Given the description of an element on the screen output the (x, y) to click on. 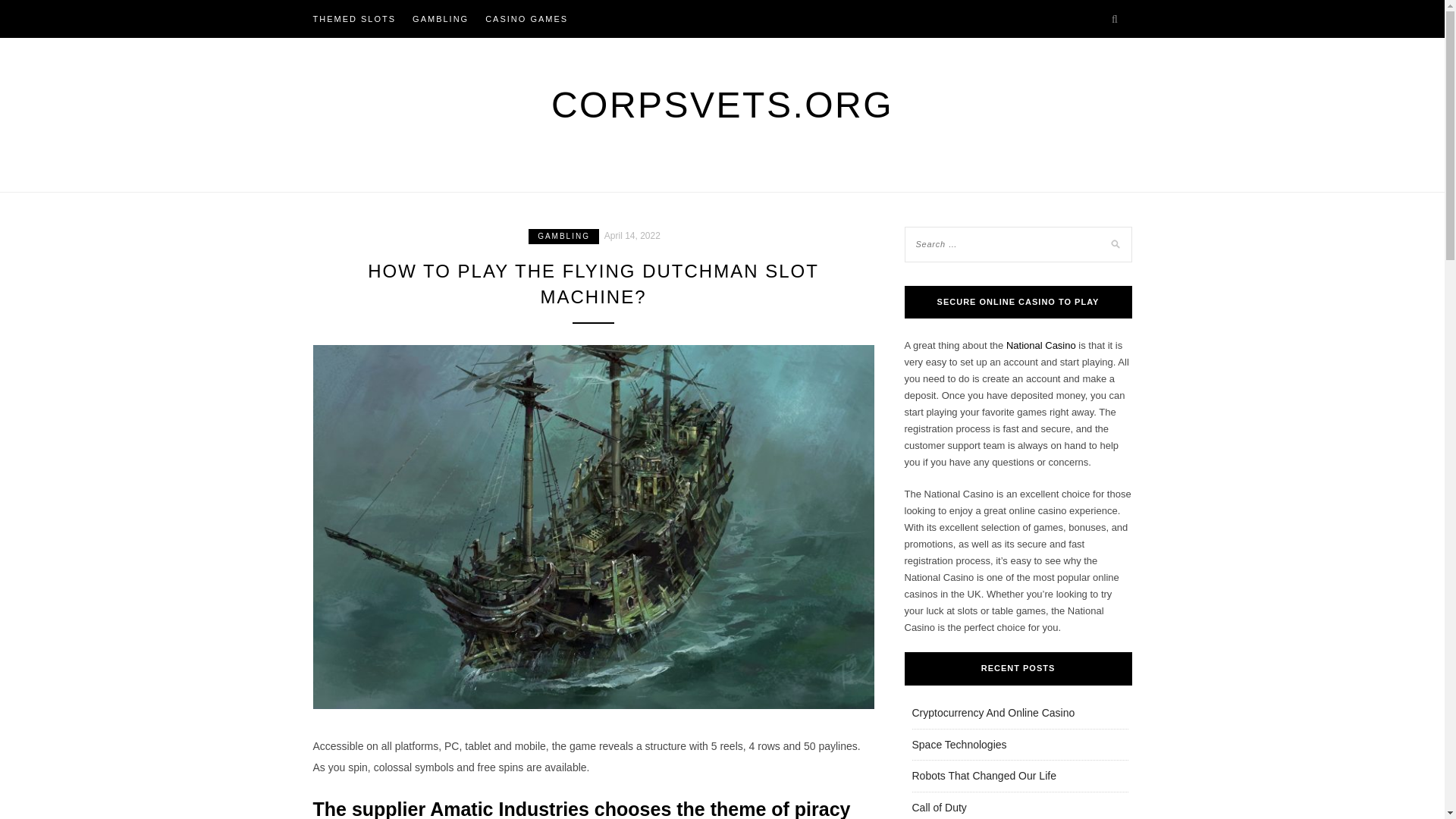
Cryptocurrency And Online Casino (992, 712)
Search (28, 11)
Robots That Changed Our Life (983, 775)
National Casino (1040, 345)
Space Technologies (958, 744)
THEMED SLOTS (354, 18)
GAMBLING (440, 18)
CORPSVETS.ORG (722, 105)
GAMBLING (563, 236)
